Given the description of an element on the screen output the (x, y) to click on. 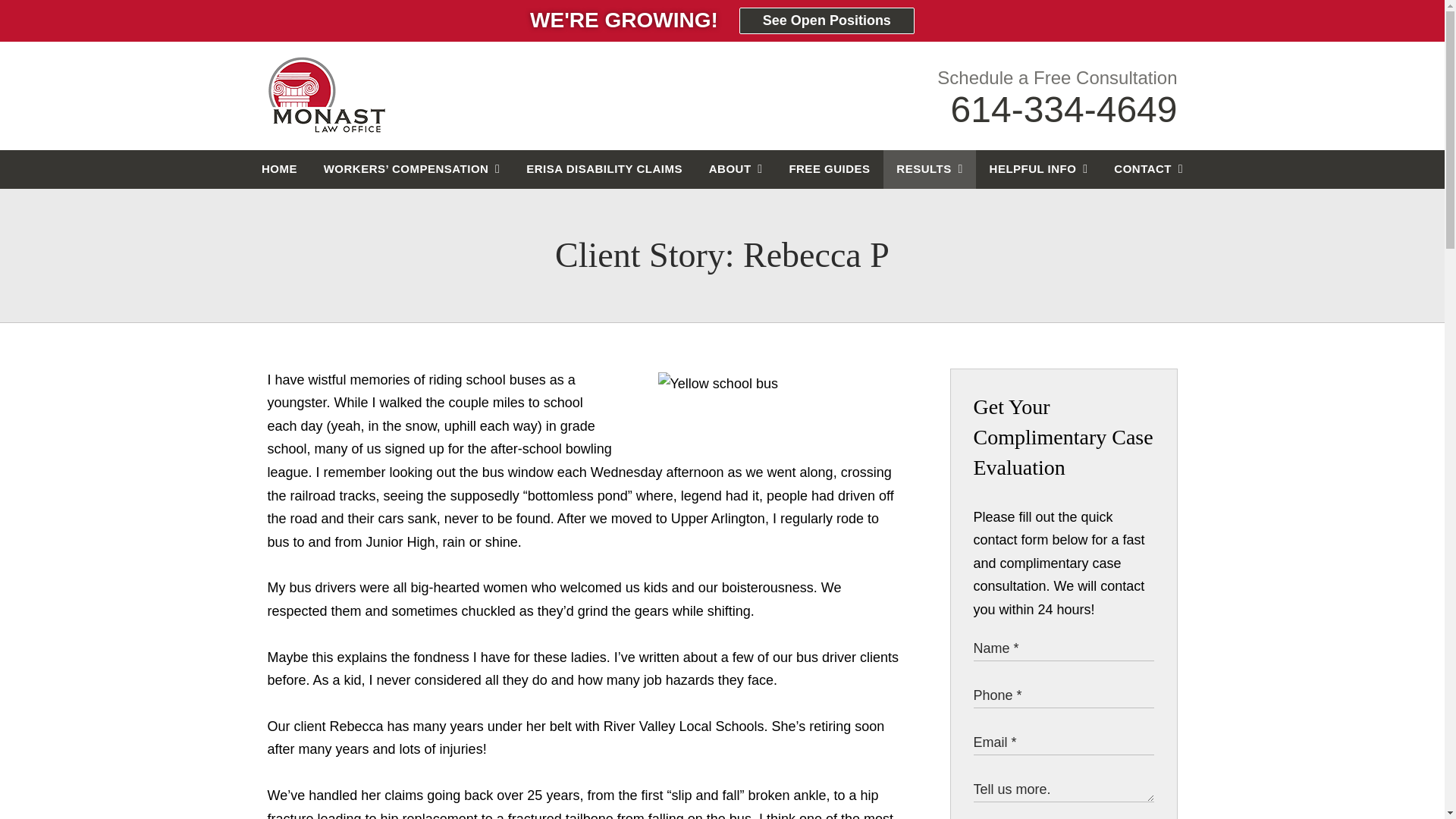
RESULTS (929, 169)
ERISA DISABILITY CLAIMS (604, 169)
ABOUT (735, 169)
HELPFUL INFO (1037, 169)
FREE GUIDES (829, 169)
CONTACT (1148, 169)
HOME (279, 169)
See Open Positions (826, 20)
